Given the description of an element on the screen output the (x, y) to click on. 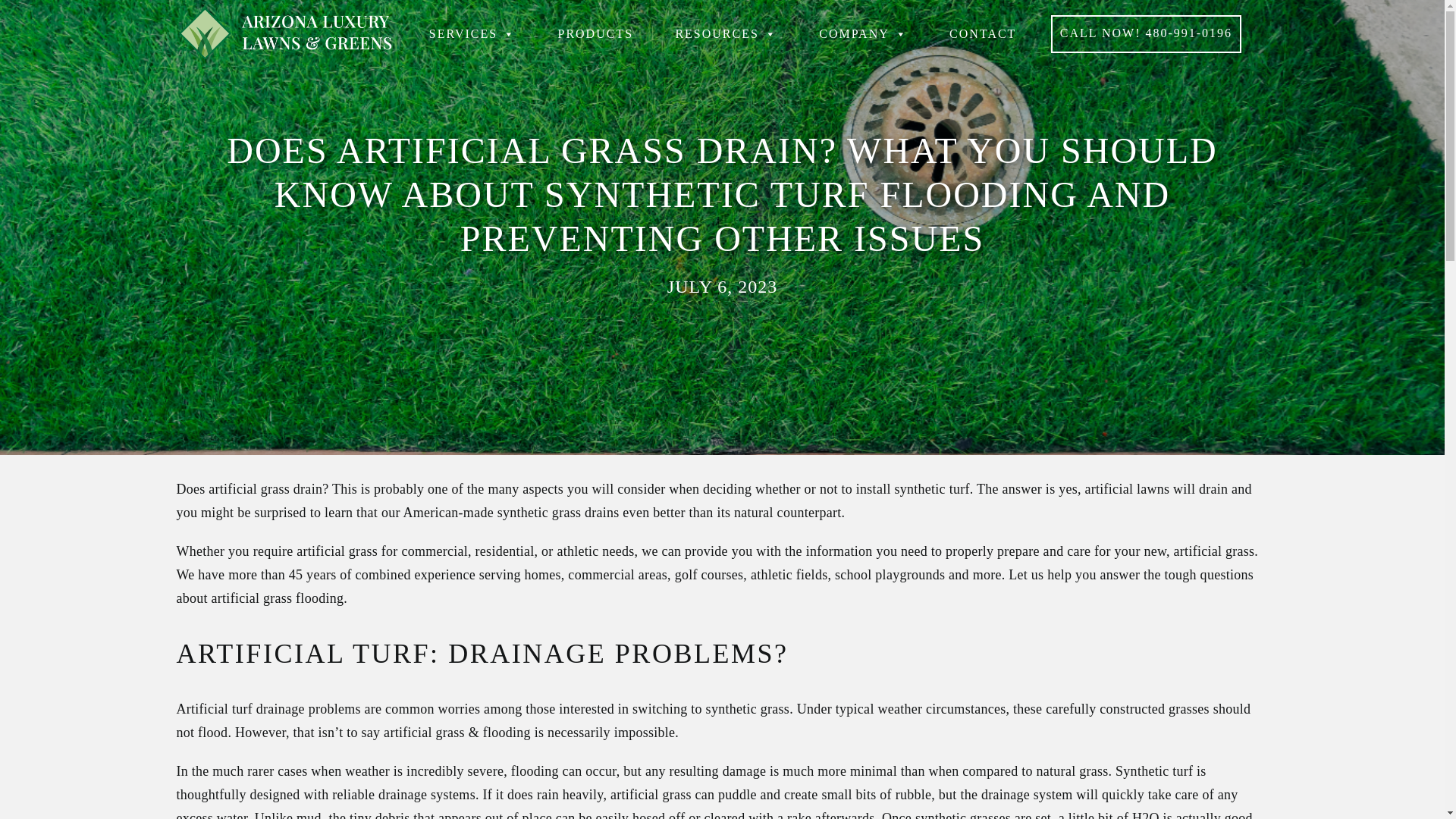
CONTACT (982, 33)
COMPANY (862, 33)
SERVICES (472, 33)
PRODUCTS (595, 33)
RESOURCES (725, 33)
CALL NOW! 480-991-0196 (1146, 34)
